Given the description of an element on the screen output the (x, y) to click on. 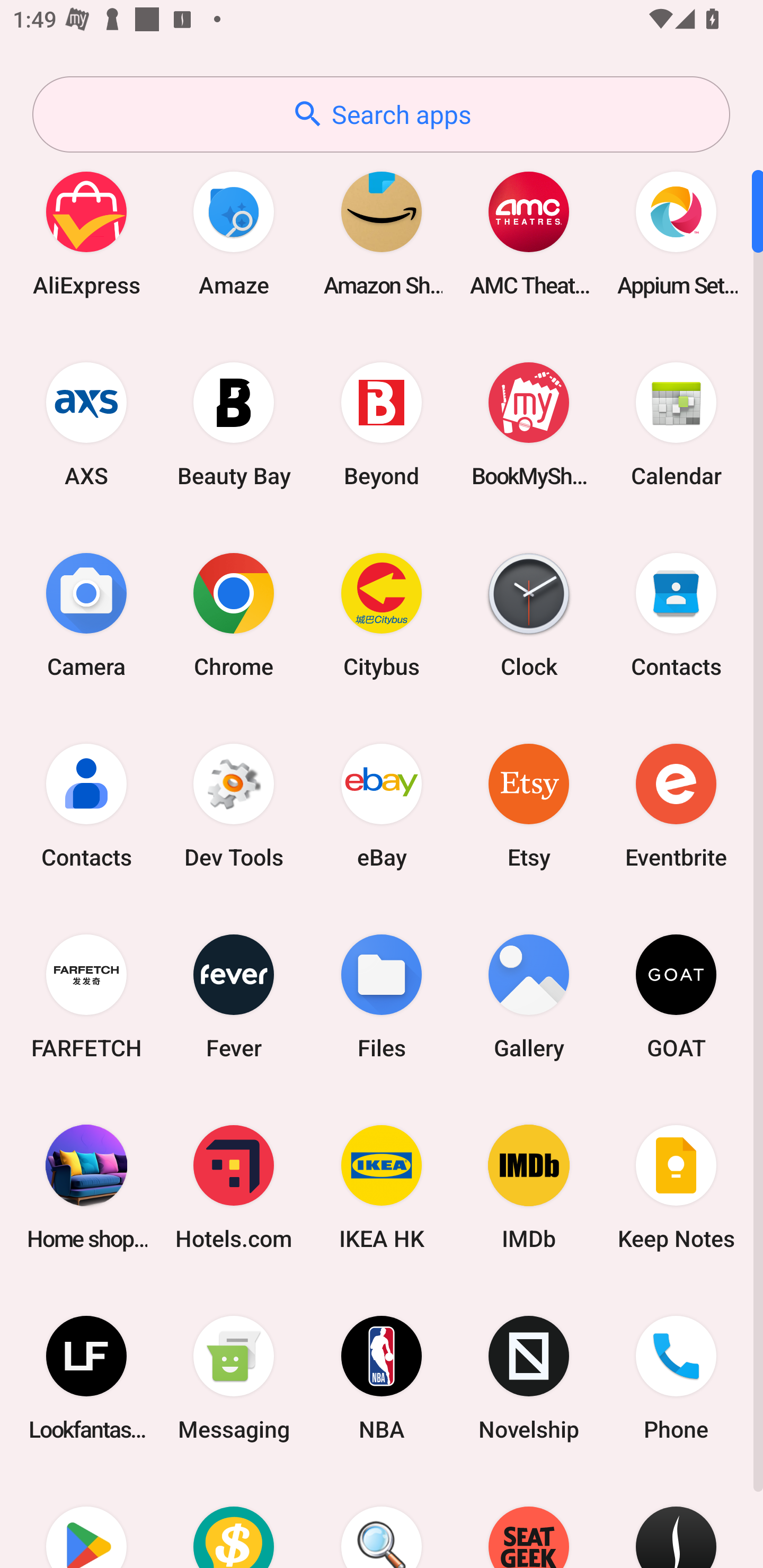
  Search apps (381, 114)
AliExpress (86, 233)
Amaze (233, 233)
Amazon Shopping (381, 233)
AMC Theatres (528, 233)
Appium Settings (676, 233)
AXS (86, 424)
Beauty Bay (233, 424)
Beyond (381, 424)
BookMyShow (528, 424)
Calendar (676, 424)
Camera (86, 614)
Chrome (233, 614)
Citybus (381, 614)
Clock (528, 614)
Contacts (676, 614)
Contacts (86, 805)
Dev Tools (233, 805)
eBay (381, 805)
Etsy (528, 805)
Eventbrite (676, 805)
FARFETCH (86, 996)
Fever (233, 996)
Files (381, 996)
Gallery (528, 996)
GOAT (676, 996)
Home shopping (86, 1186)
Hotels.com (233, 1186)
IKEA HK (381, 1186)
IMDb (528, 1186)
Keep Notes (676, 1186)
Lookfantastic (86, 1377)
Messaging (233, 1377)
NBA (381, 1377)
Novelship (528, 1377)
Phone (676, 1377)
